Given the description of an element on the screen output the (x, y) to click on. 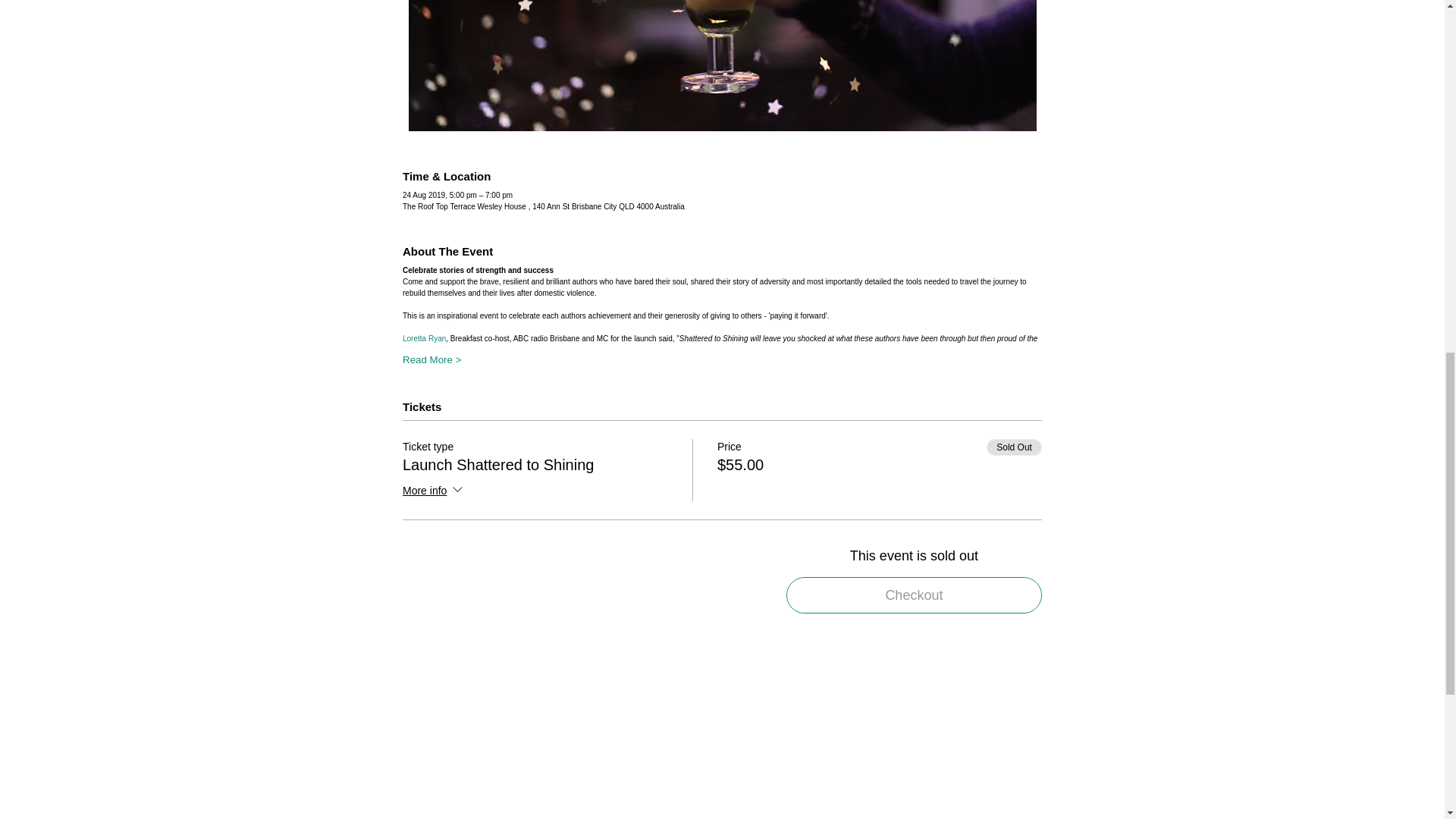
Loretta Ryan (424, 338)
Map (721, 746)
